Given the description of an element on the screen output the (x, y) to click on. 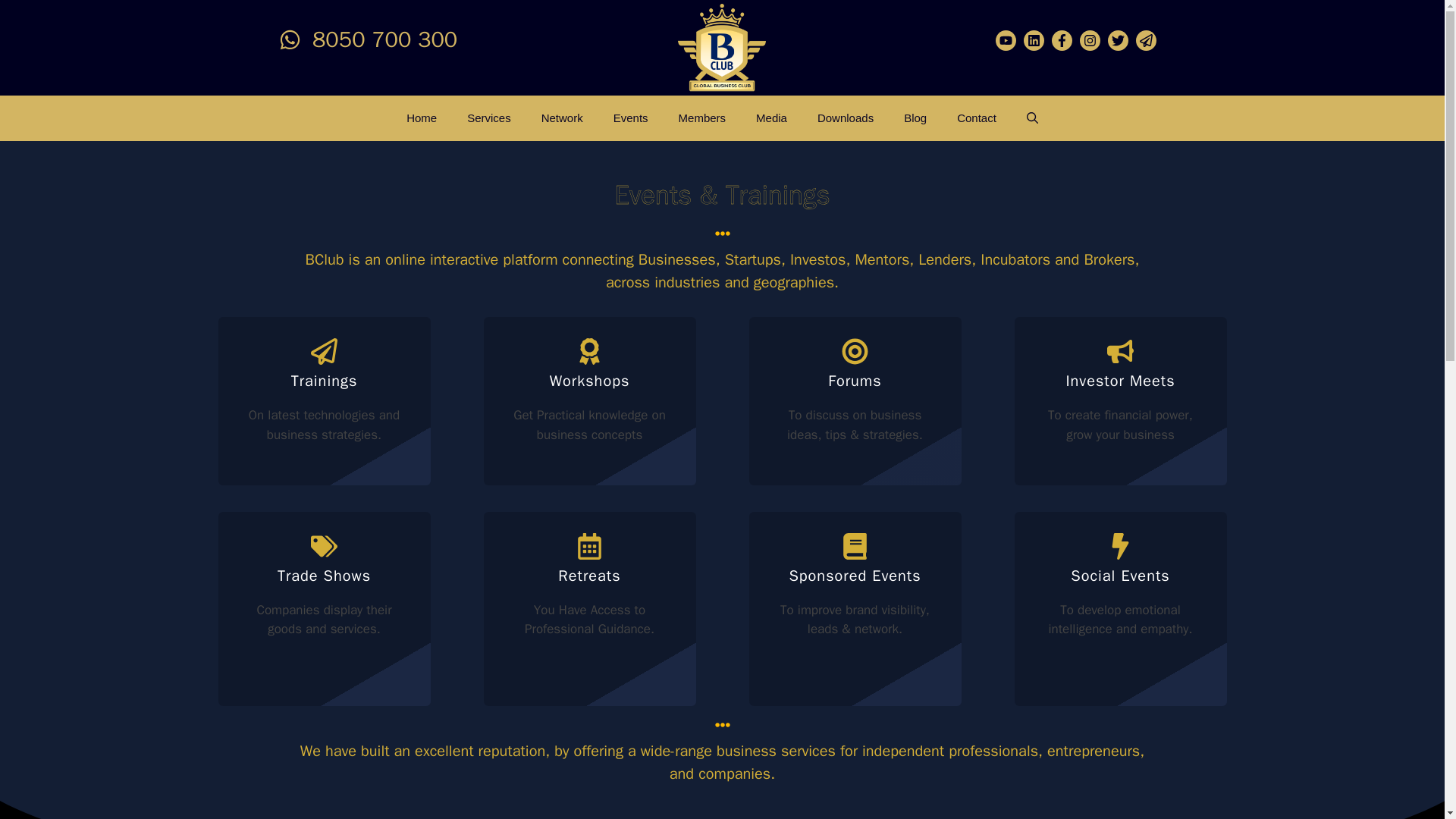
Events (630, 117)
Blog (915, 117)
Downloads (845, 117)
Network (561, 117)
Services (488, 117)
8050 700 300 (385, 39)
Members (702, 117)
Contact (976, 117)
Media (771, 117)
Home (421, 117)
